Given the description of an element on the screen output the (x, y) to click on. 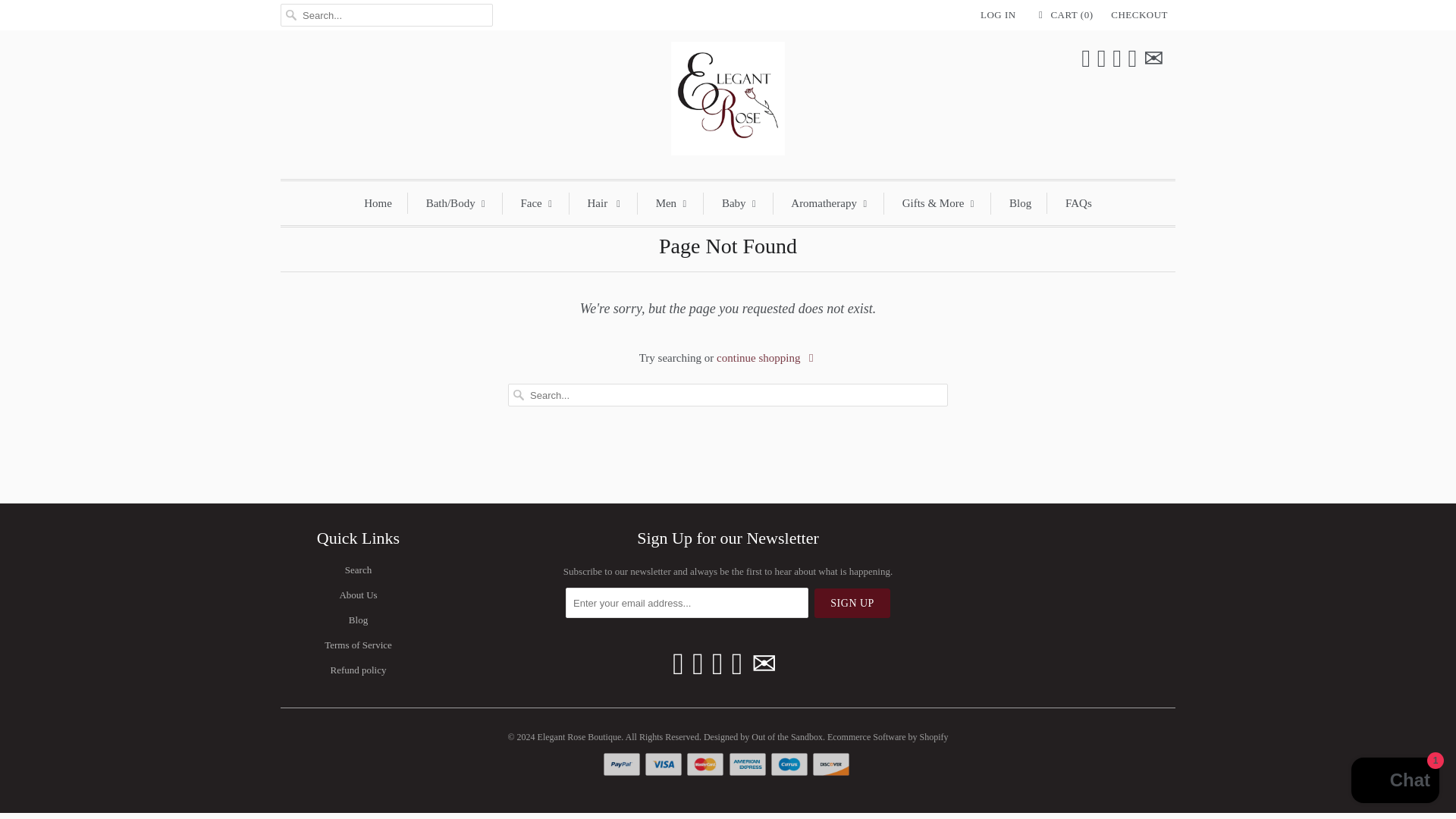
Email Elegant Rose Boutique (1152, 58)
Elegant Rose Boutique on Instagram (1132, 58)
CHECKOUT (1138, 15)
Elegant Rose Boutique on Twitter (678, 664)
Elegant Rose Boutique on Facebook (1101, 58)
Email Elegant Rose Boutique (764, 664)
Search (358, 569)
Sign Up (851, 603)
Elegant Rose Boutique on Pinterest (717, 664)
Elegant Rose Boutique on Facebook (698, 664)
LOG IN (997, 15)
Elegant Rose Boutique (727, 102)
Elegant Rose Boutique on Twitter (1085, 58)
Blog (358, 619)
Terms of Service (357, 644)
